Given the description of an element on the screen output the (x, y) to click on. 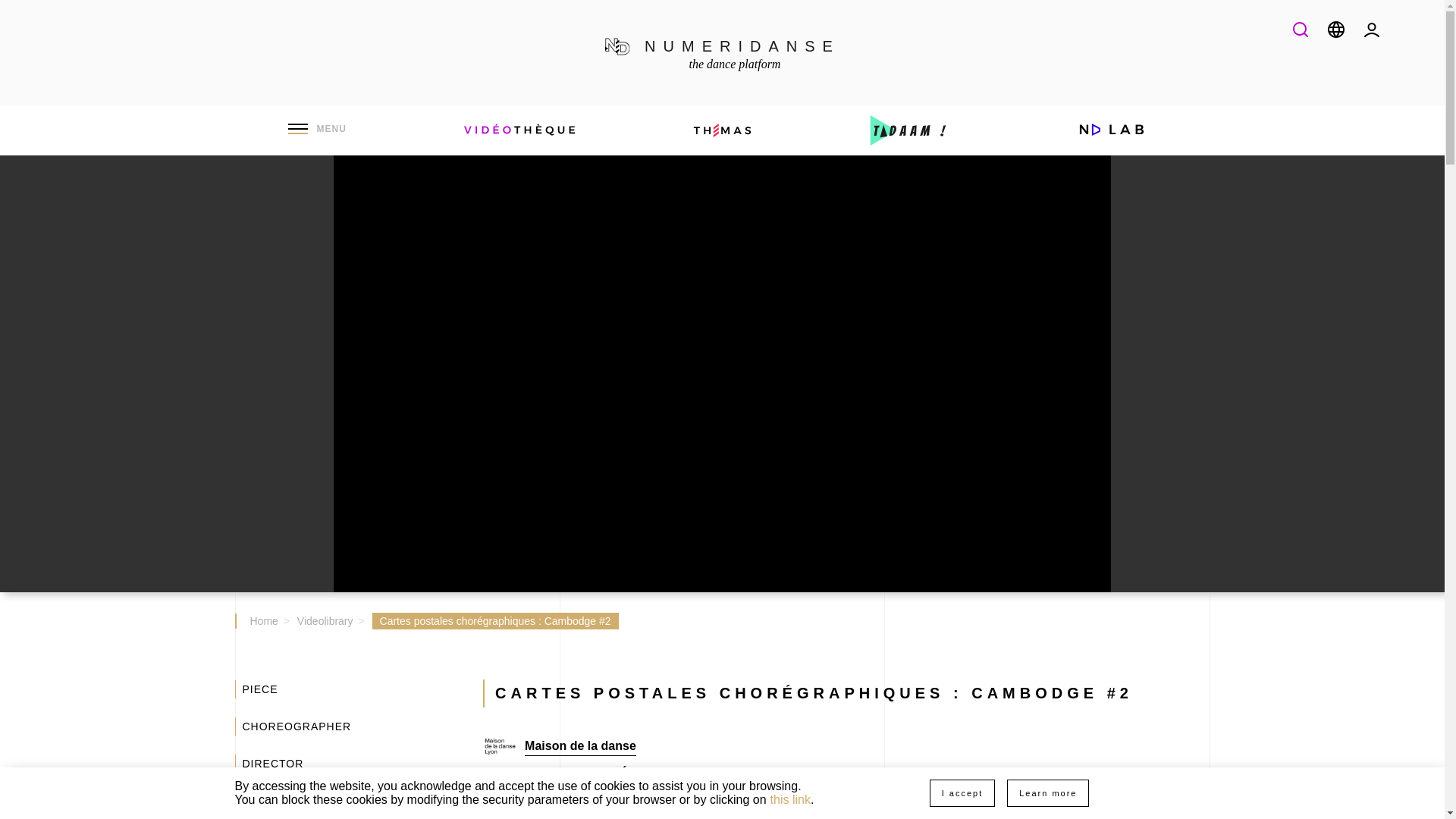
Classical (516, 356)
Log in (1241, 233)
Subscribe (821, 651)
Urban dances (722, 53)
Traditional dances (722, 53)
Close (589, 356)
Jazz (684, 356)
Skip to main content (1380, 43)
MENU (379, 356)
